Given the description of an element on the screen output the (x, y) to click on. 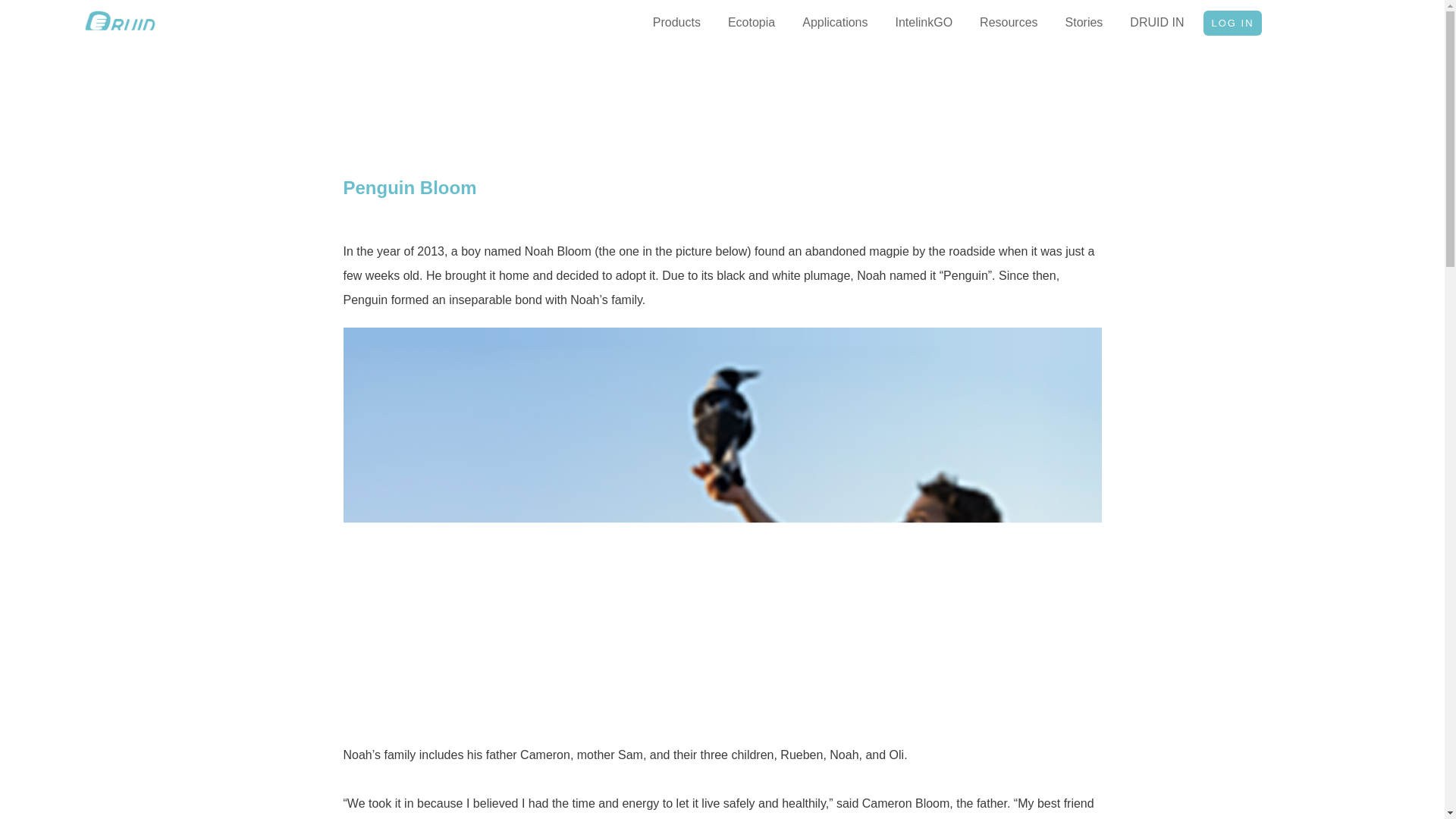
Stories (1083, 23)
IntelinkGO (923, 23)
Products (676, 23)
LOG IN (1232, 23)
Resources (1008, 23)
Ecotopia (751, 23)
Applications (834, 23)
DRUID IN (1156, 23)
